Given the description of an element on the screen output the (x, y) to click on. 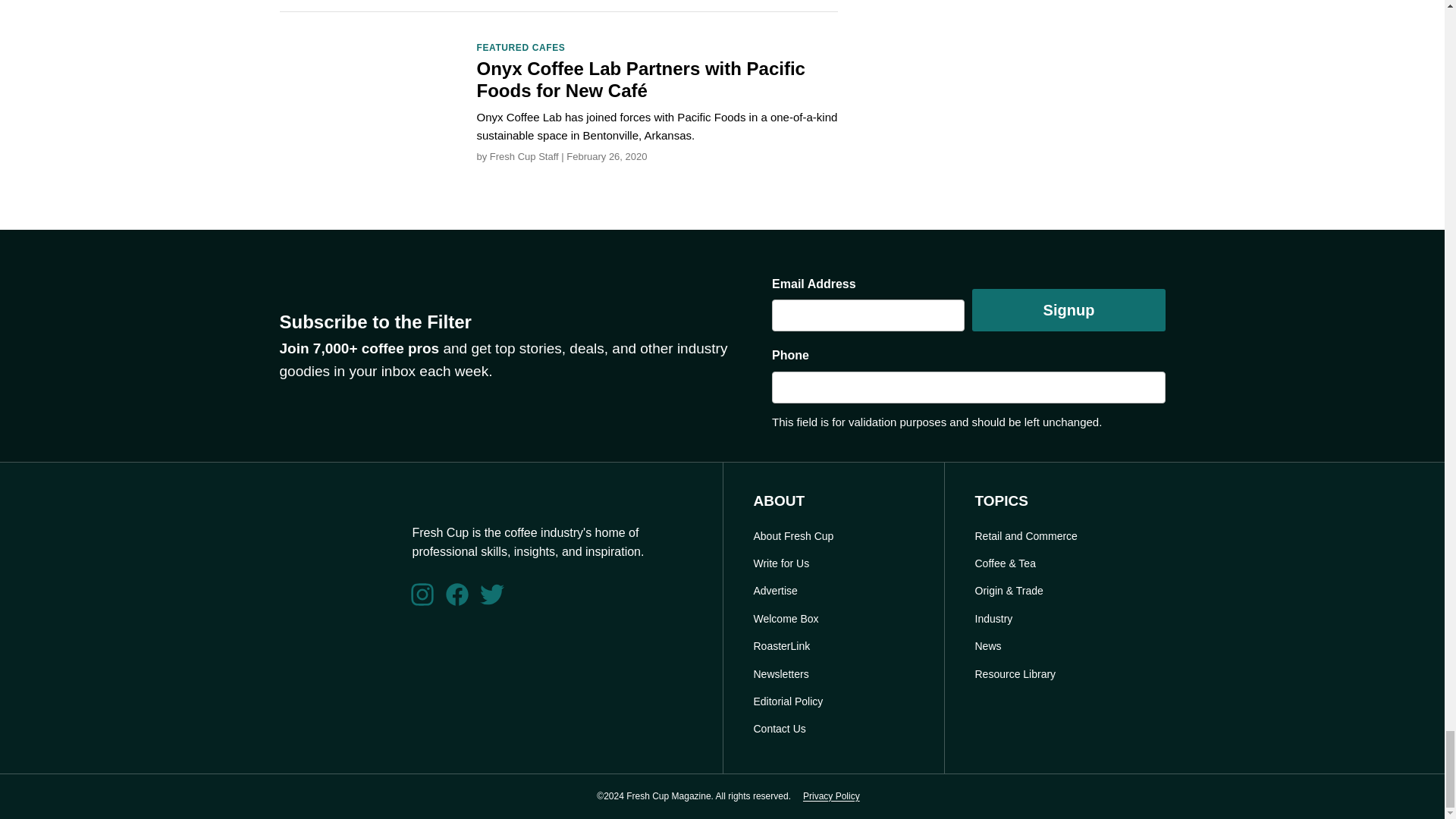
Signup (1068, 310)
